Given the description of an element on the screen output the (x, y) to click on. 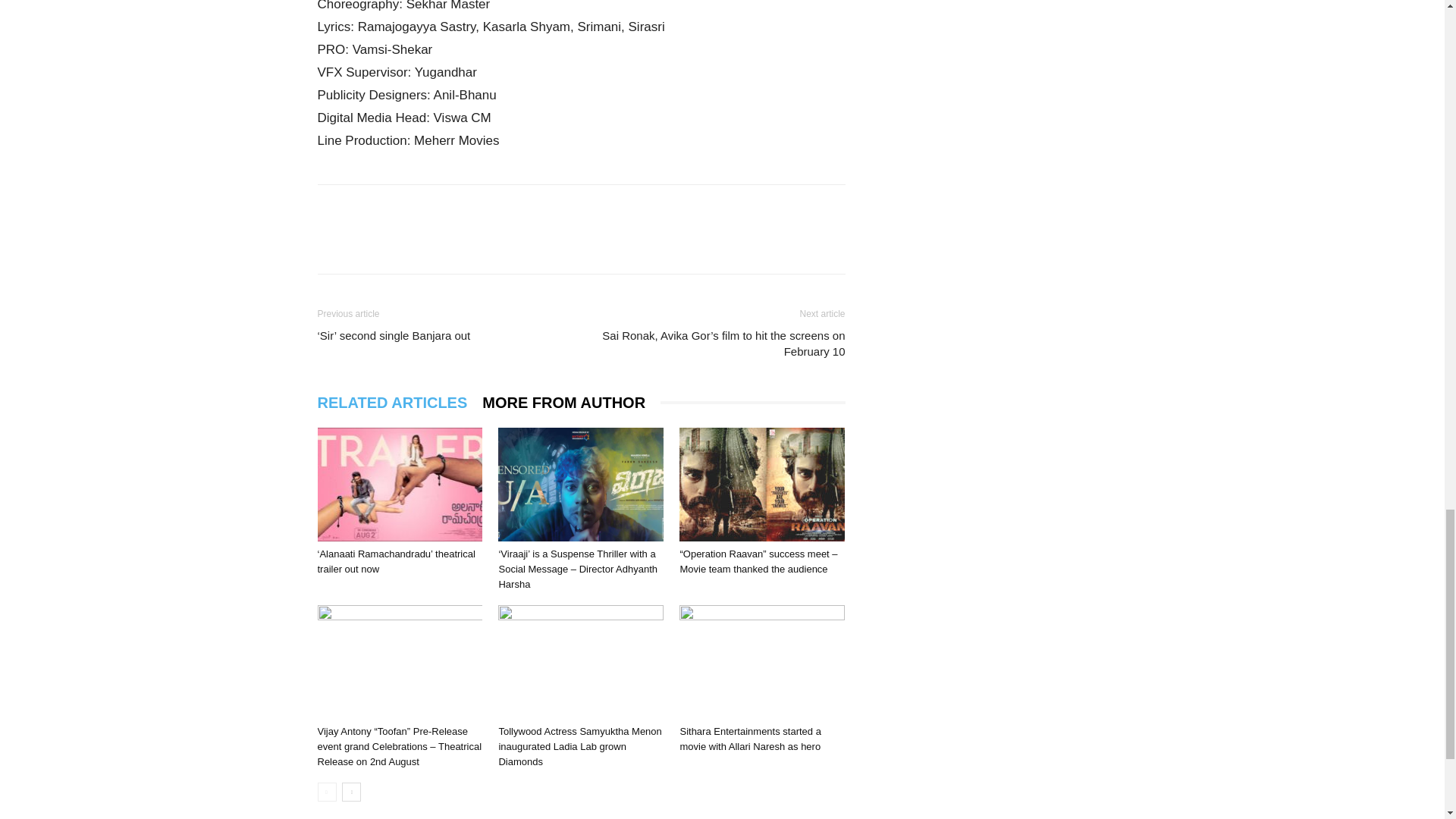
bottomFacebookLike (430, 208)
